Given the description of an element on the screen output the (x, y) to click on. 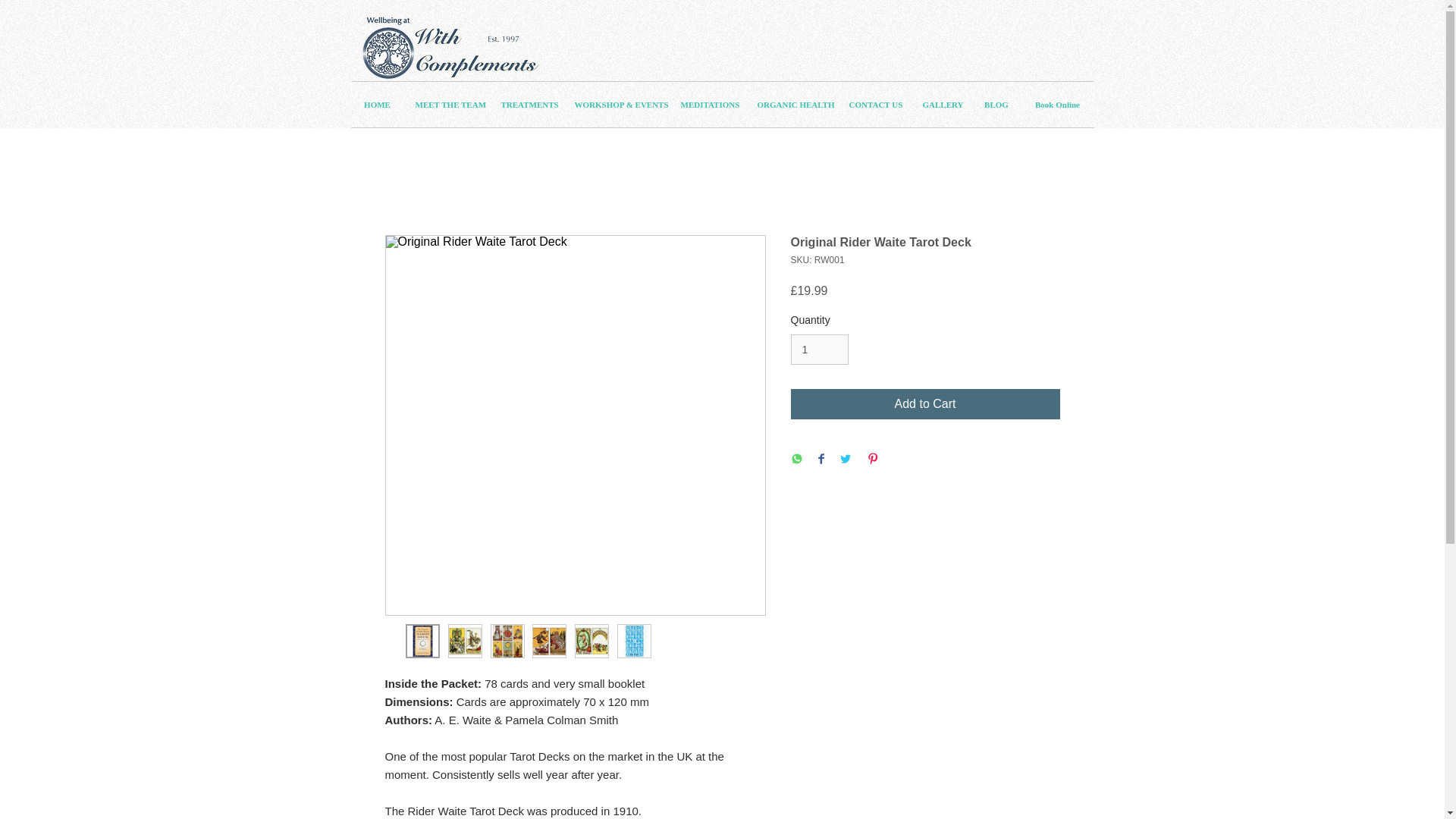
BLOG (997, 104)
MEET THE TEAM (446, 104)
Add to Cart (924, 404)
TREATMENTS (526, 104)
Book Online (1056, 104)
MEDITATIONS (706, 104)
HOME (376, 104)
GALLERY (941, 104)
ORGANIC HEALTH (791, 104)
CONTACT US (874, 104)
